Given the description of an element on the screen output the (x, y) to click on. 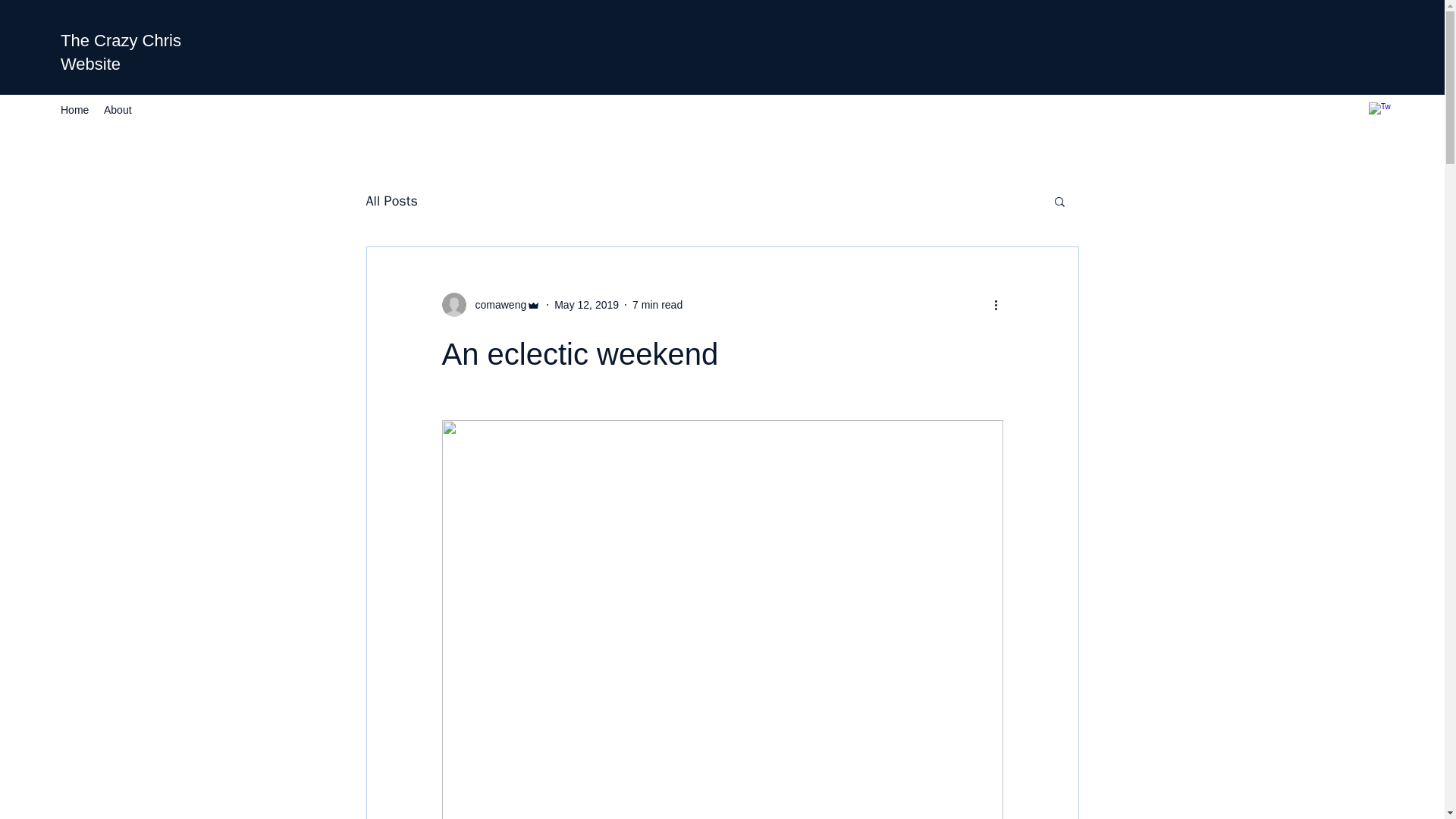
The Crazy Chris Website (120, 52)
About (117, 109)
comaweng (495, 304)
All Posts (390, 200)
May 12, 2019 (586, 304)
7 min read (656, 304)
Home (74, 109)
